Given the description of an element on the screen output the (x, y) to click on. 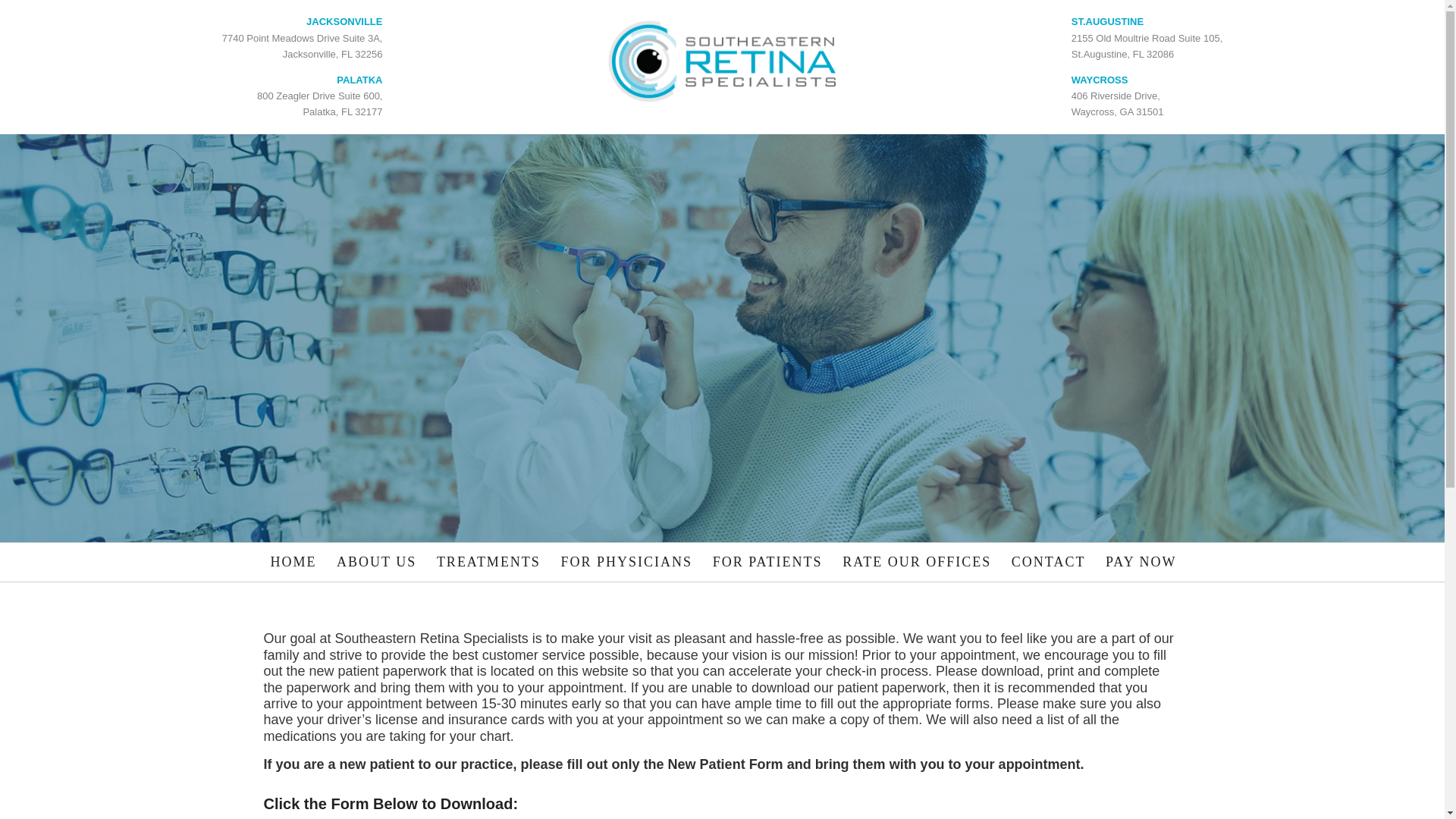
ABOUT US (302, 103)
HOME (1147, 103)
